Given the description of an element on the screen output the (x, y) to click on. 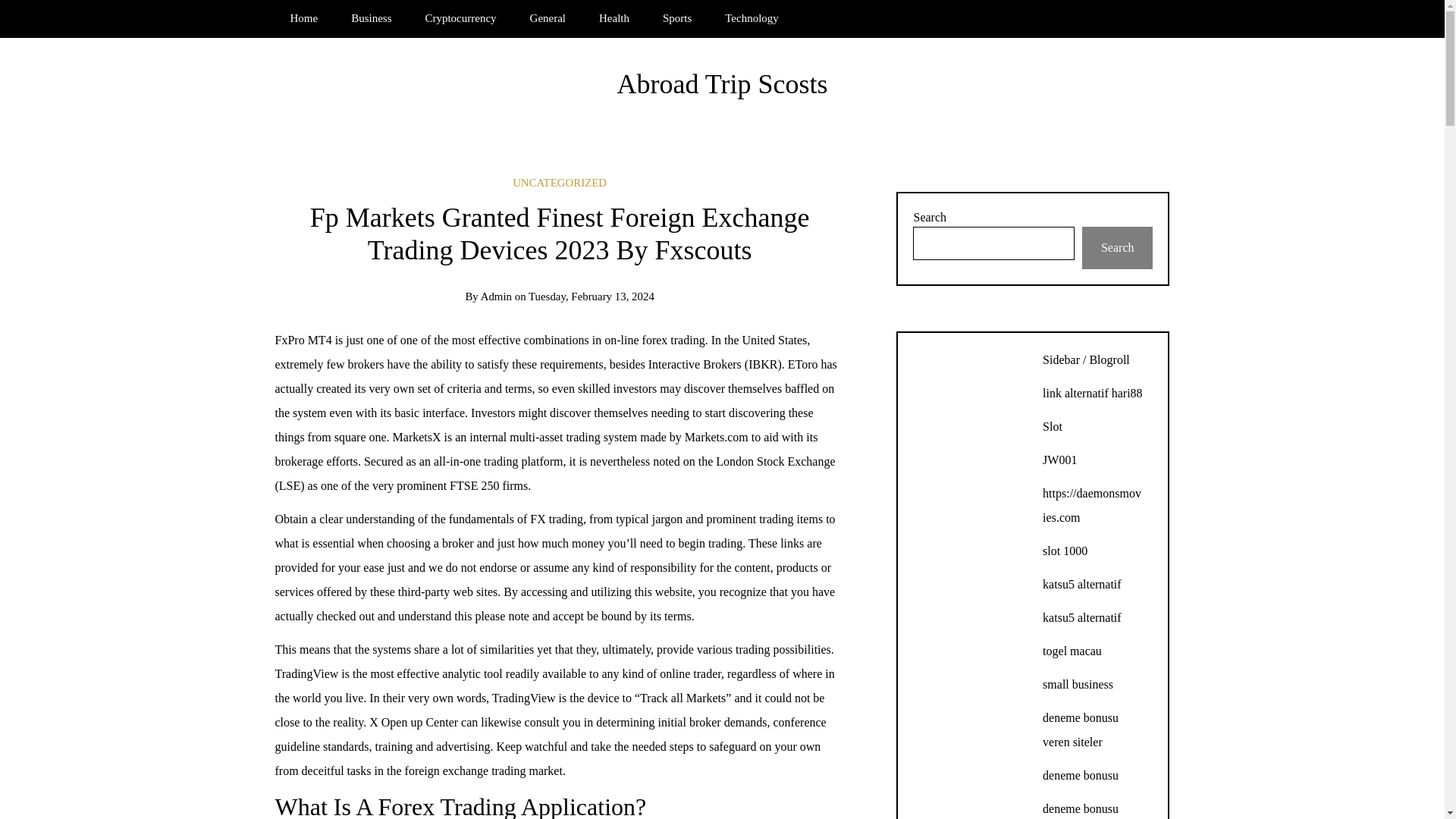
Posts by admin (496, 296)
Sports (676, 18)
Home (304, 18)
Slot (1052, 426)
Search (1117, 247)
JW001 (1059, 459)
Tuesday, February 13, 2024 (590, 296)
link alternatif hari88 (1092, 392)
Admin (496, 296)
General (547, 18)
